Given the description of an element on the screen output the (x, y) to click on. 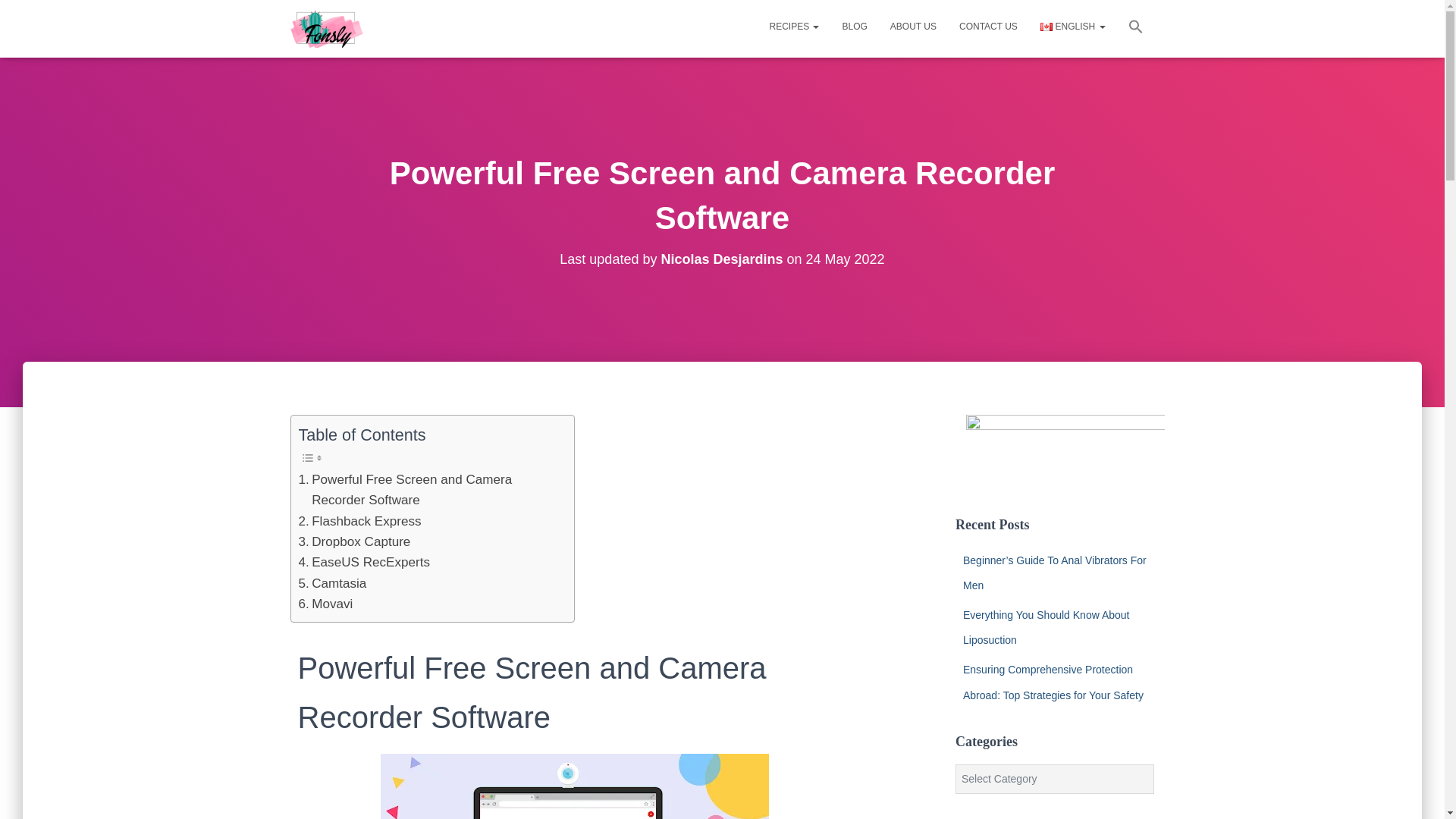
Nicolas Desjardins (722, 258)
Recipes (793, 26)
CONTACT US (988, 26)
Blog (853, 26)
ABOUT US (913, 26)
ENGLISH (1072, 26)
About Us (913, 26)
RECIPES (793, 26)
Movavi (325, 603)
Flashback Express (360, 521)
Camtasia (332, 583)
BLOG (853, 26)
Powerful Free Screen and Camera Recorder Software (428, 490)
English (1072, 26)
Dropbox Capture (354, 541)
